Given the description of an element on the screen output the (x, y) to click on. 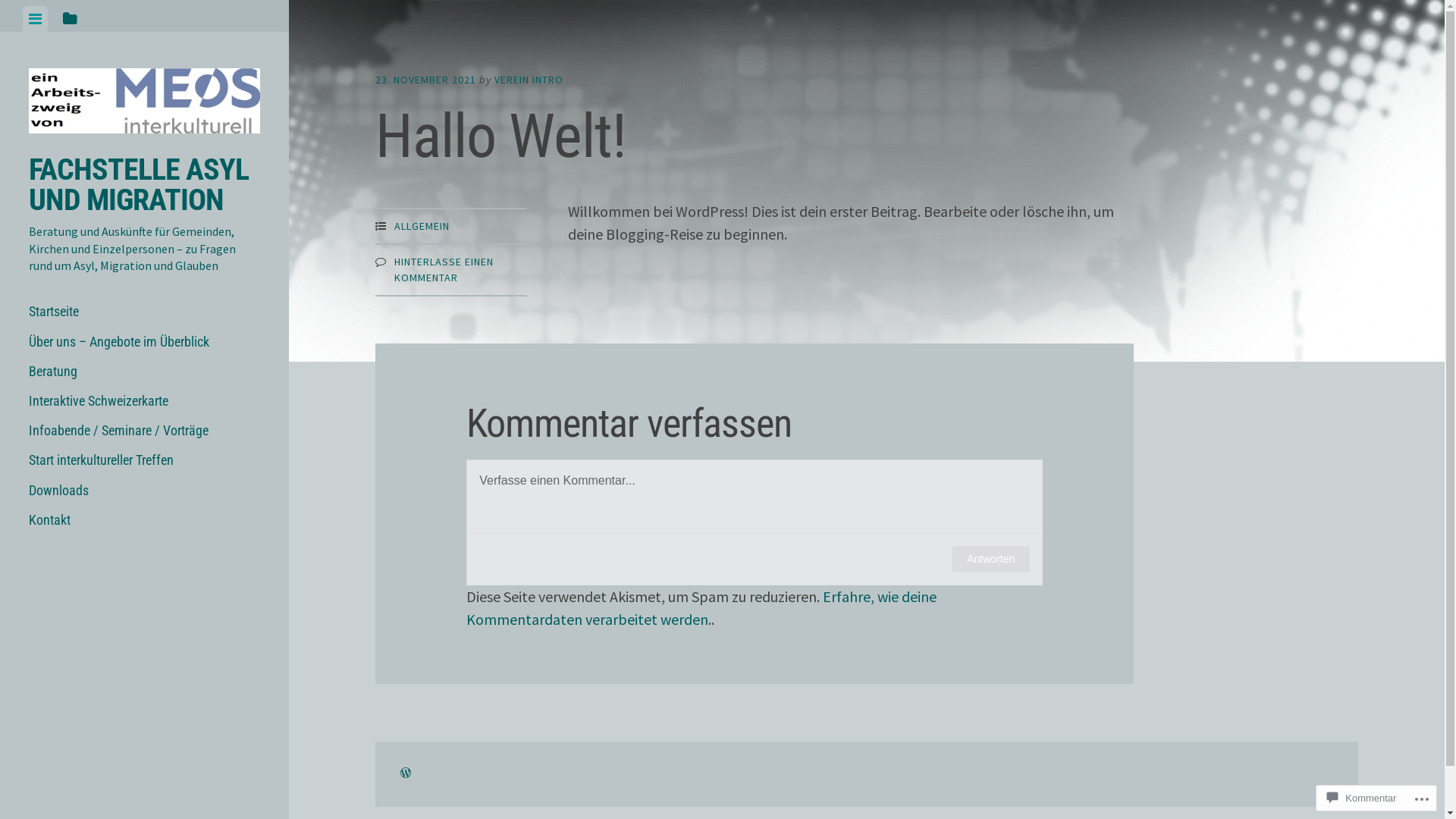
FACHSTELLE ASYL UND MIGRATION Element type: text (138, 184)
Start interkultureller Treffen Element type: text (144, 459)
Downloads Element type: text (144, 489)
Interaktive Schweizerkarte Element type: text (144, 400)
23. NOVEMBER 2021 Element type: text (425, 79)
HINTERLASSE EINEN KOMMENTAR Element type: text (443, 269)
Kontakt Element type: text (144, 519)
VEREIN INTRO Element type: text (528, 79)
Beratung Element type: text (144, 370)
Antworten Element type: text (990, 559)
Kommentar Element type: text (1361, 797)
Erfahre, wie deine Kommentardaten verarbeitet werden. Element type: text (701, 607)
Startseite Element type: text (144, 311)
ERSTELLE EINE WEBSITE ODER EIN BLOG AUF WORDPRESS.COM Element type: text (405, 773)
ALLGEMEIN Element type: text (421, 225)
